Given the description of an element on the screen output the (x, y) to click on. 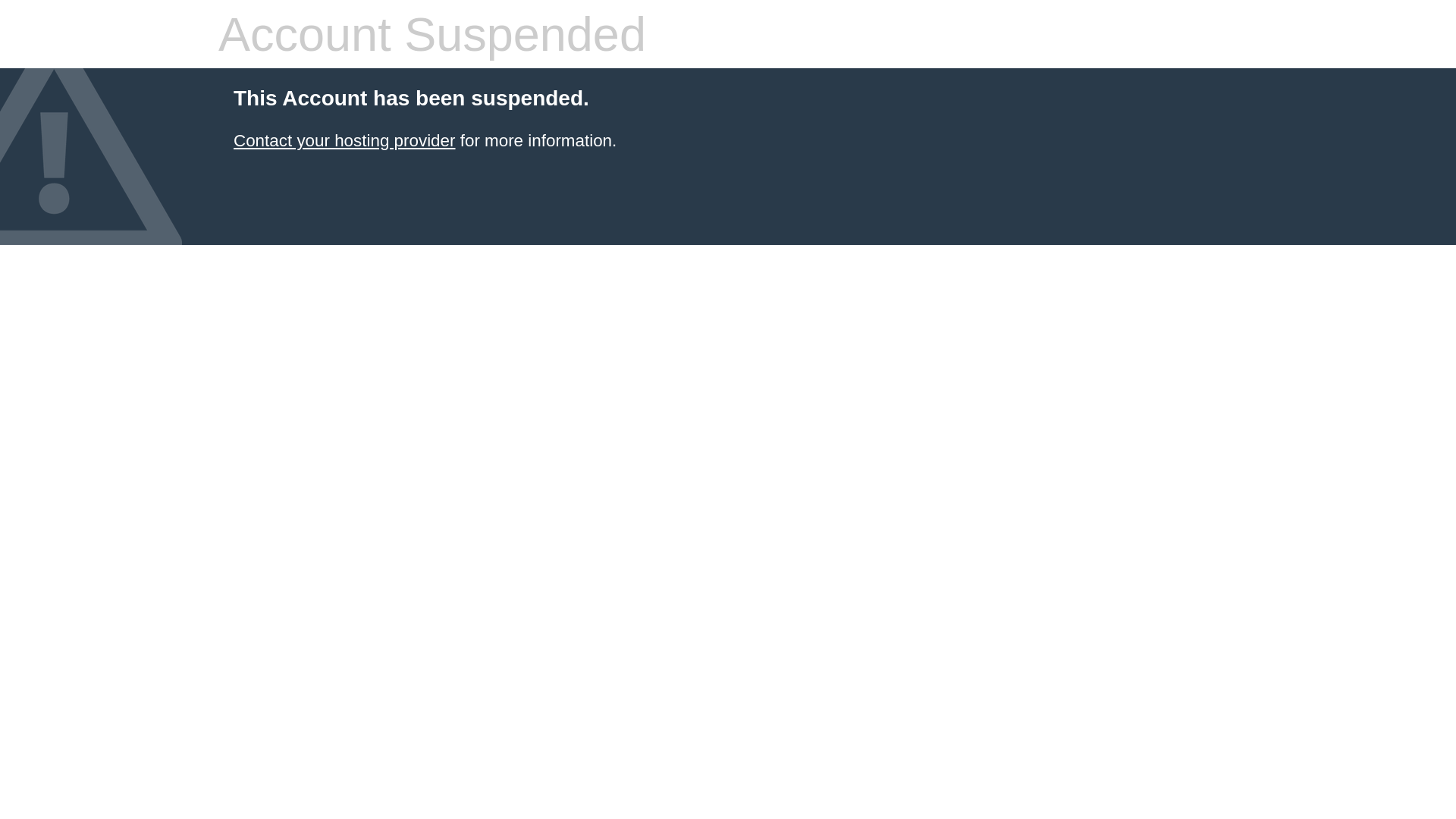
Contact your hosting provider Element type: text (344, 140)
